Given the description of an element on the screen output the (x, y) to click on. 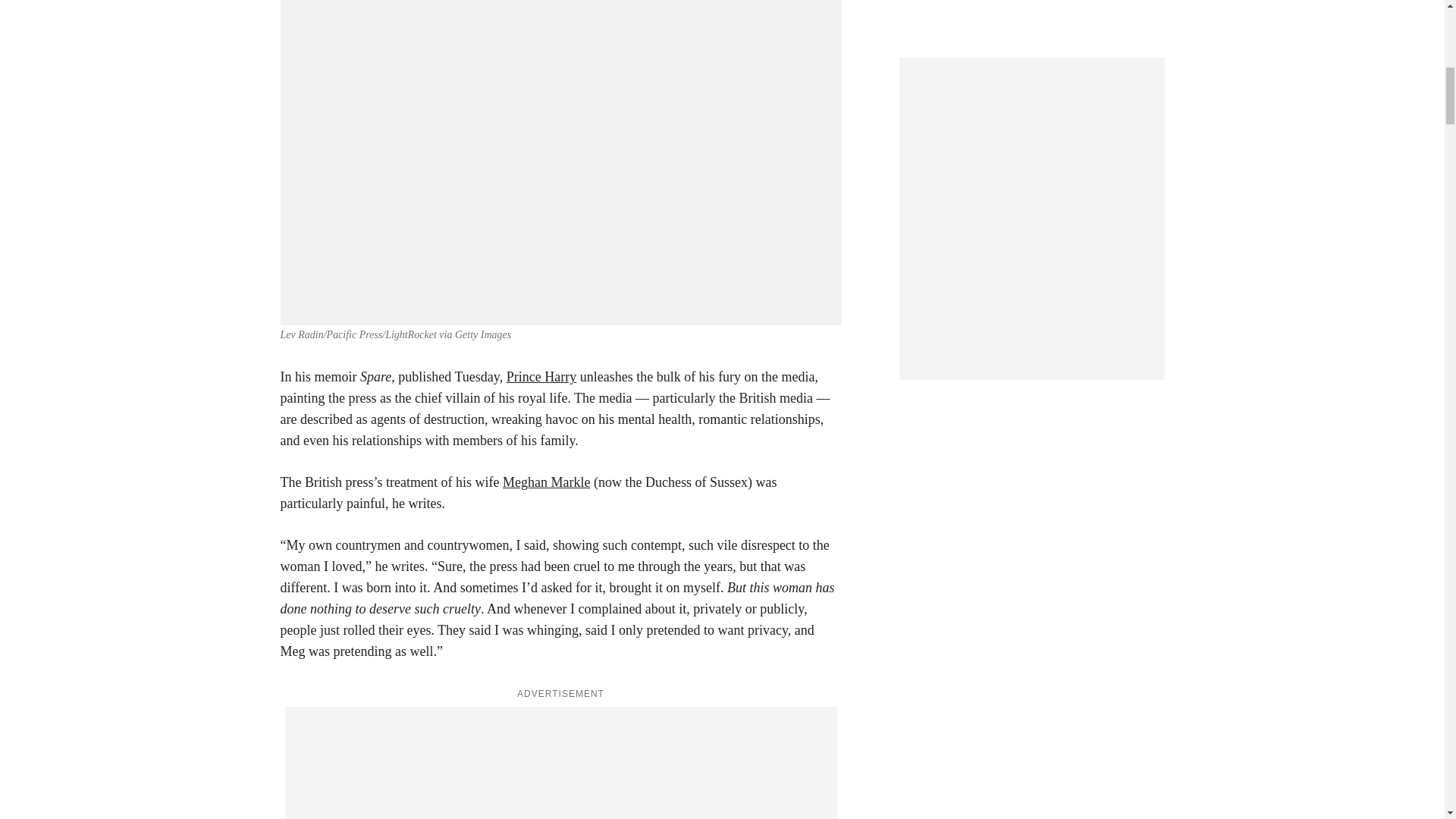
Prince Harry (541, 376)
Meghan Markle (545, 482)
